Given the description of an element on the screen output the (x, y) to click on. 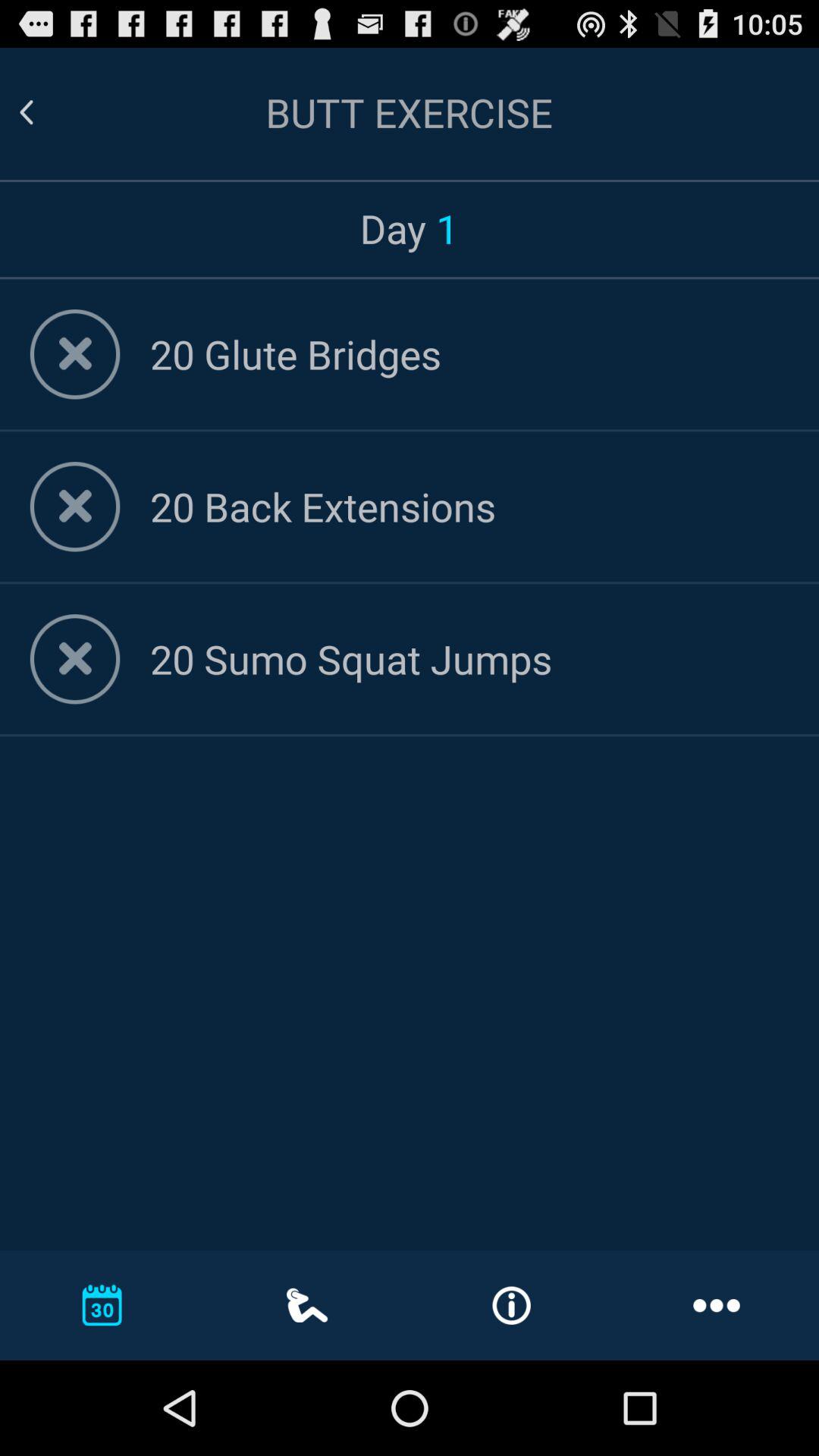
go back (44, 112)
